Given the description of an element on the screen output the (x, y) to click on. 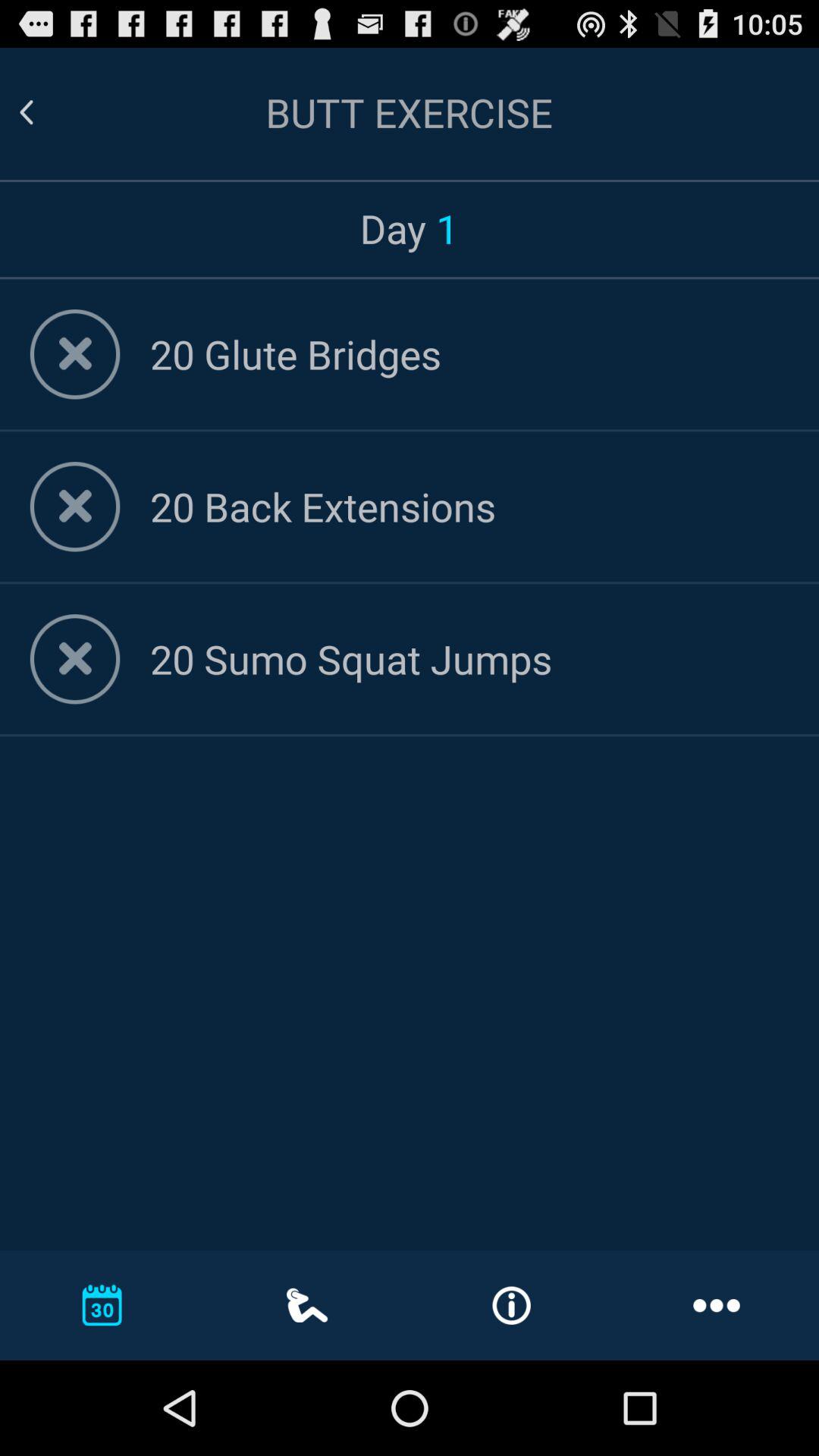
go back (44, 112)
